Given the description of an element on the screen output the (x, y) to click on. 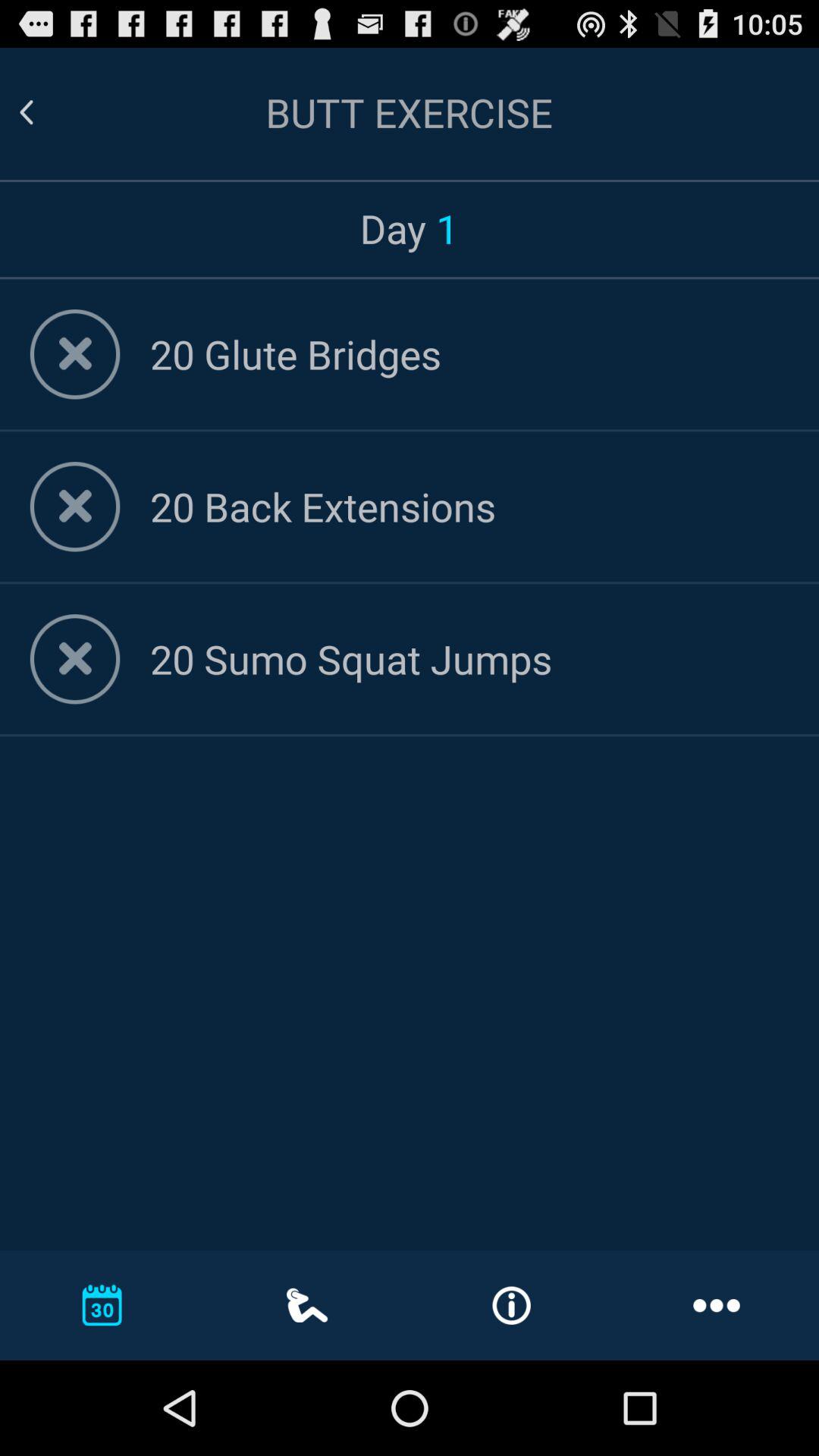
go back (44, 112)
